Given the description of an element on the screen output the (x, y) to click on. 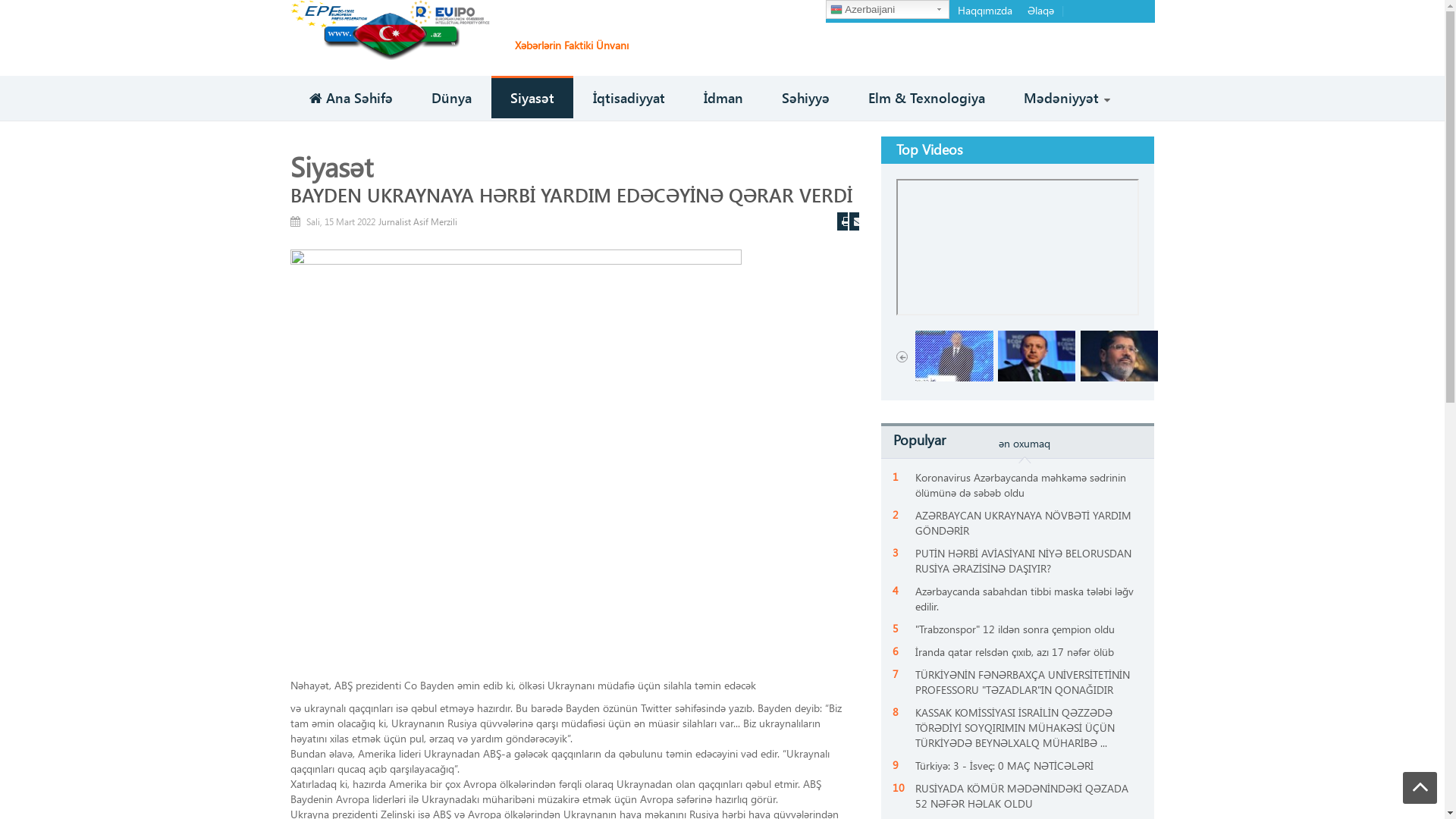
Elm & Texnologiya Element type: text (926, 97)
Print Element type: text (842, 221)
Email Element type: text (854, 221)
TRTAJANS Element type: hover (389, 28)
Azerbaijani Element type: text (887, 9)
